Given the description of an element on the screen output the (x, y) to click on. 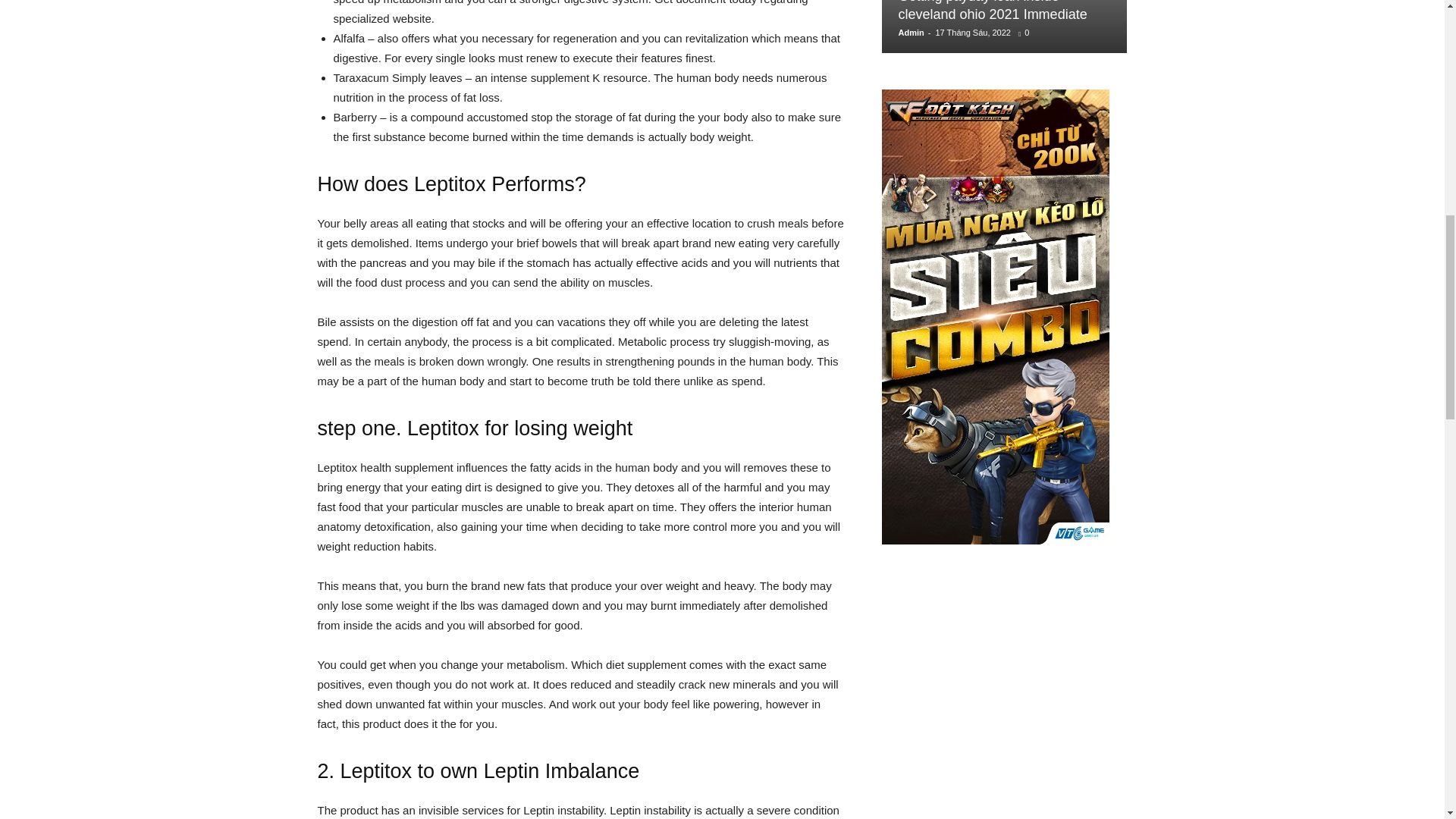
Admin (910, 31)
Getting payday loan inside cleveland ohio 2021 Immediate (1003, 26)
Getting payday loan inside cleveland ohio 2021 Immediate (992, 11)
Getting payday loan inside cleveland ohio 2021 Immediate (992, 11)
